Given the description of an element on the screen output the (x, y) to click on. 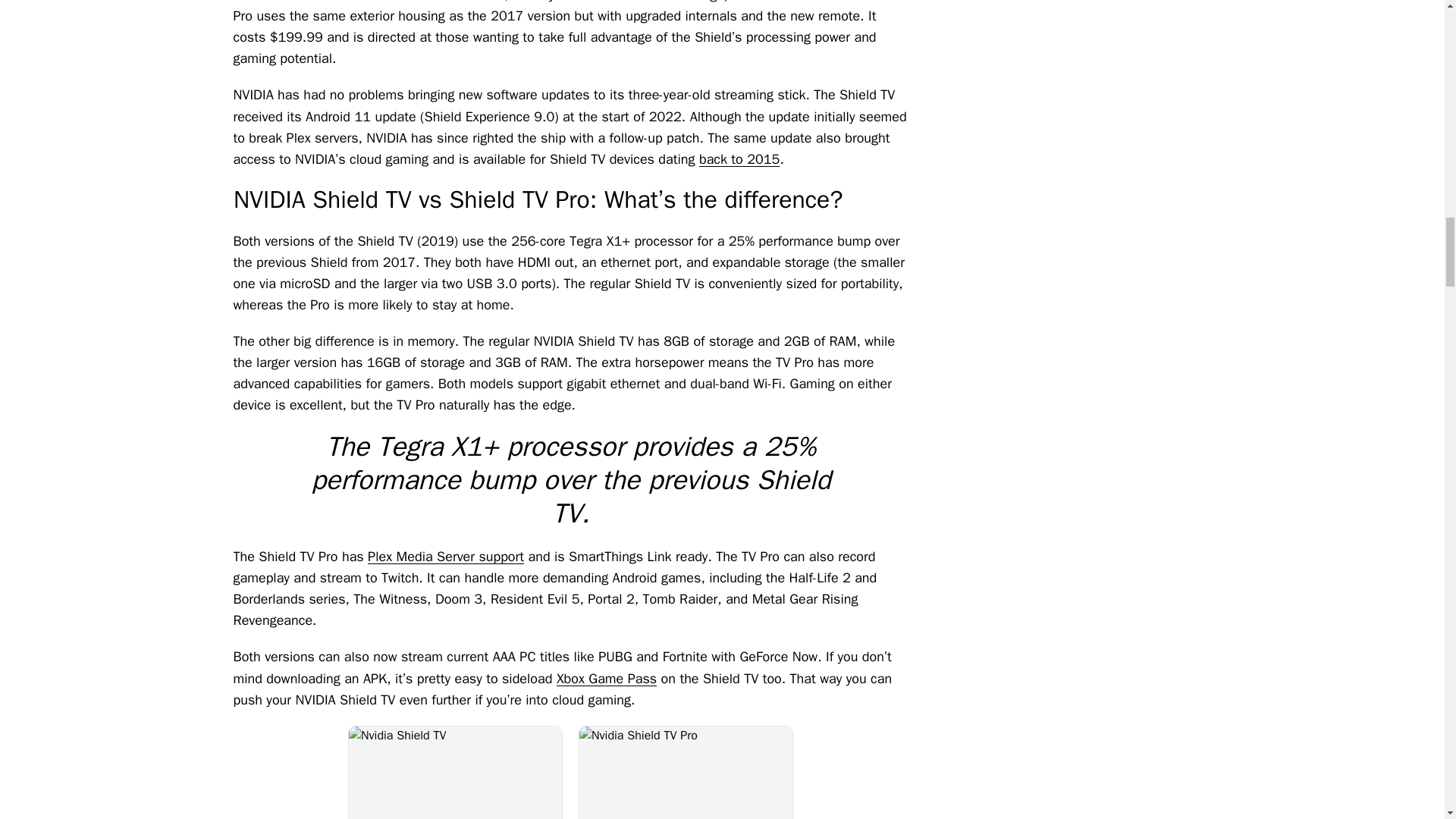
Xbox Game Pass (606, 678)
back to 2015 (738, 158)
Plex Media Server support (446, 556)
